Given the description of an element on the screen output the (x, y) to click on. 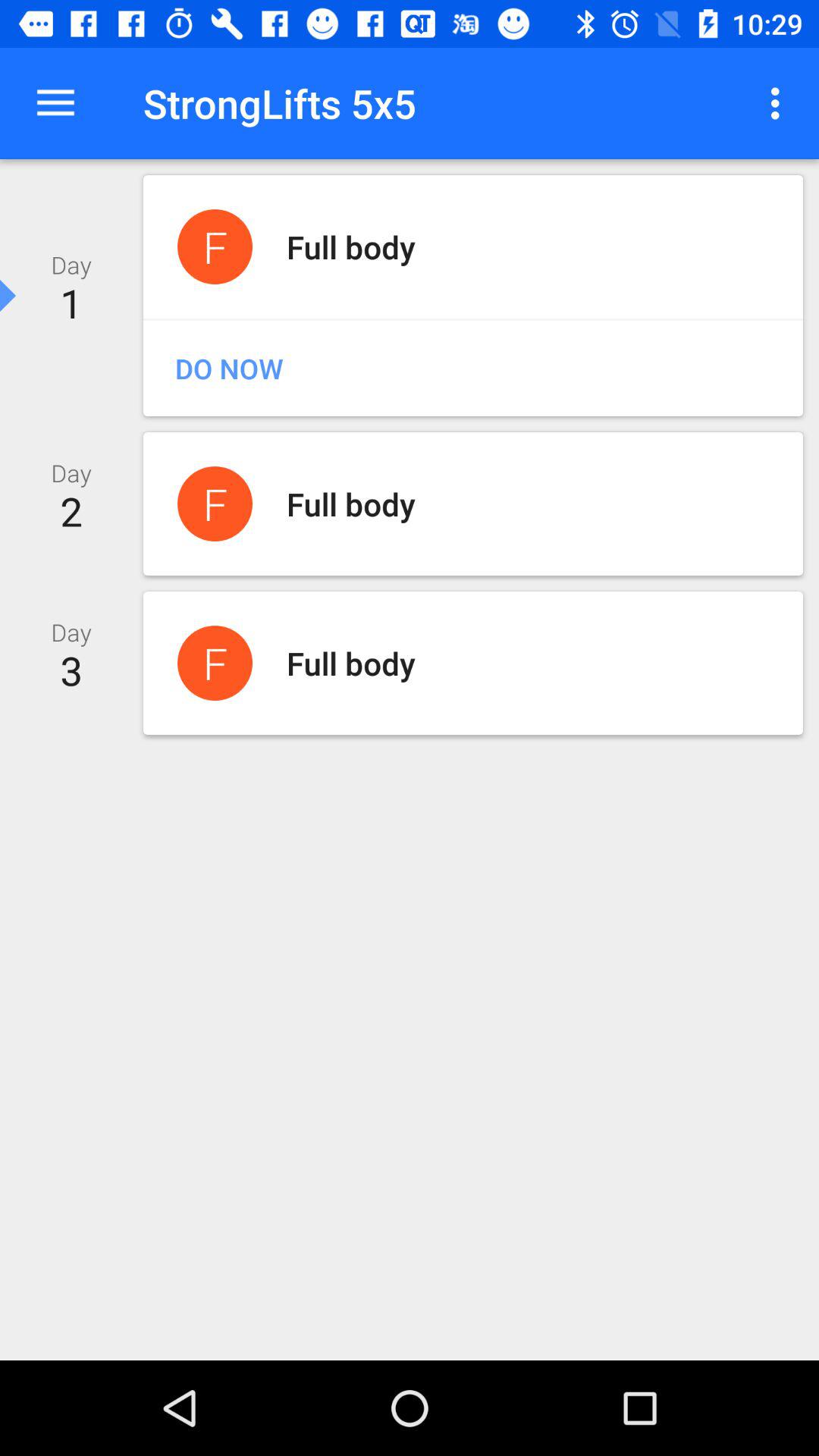
choose the icon to the left of the stronglifts 5x5 item (55, 103)
